Given the description of an element on the screen output the (x, y) to click on. 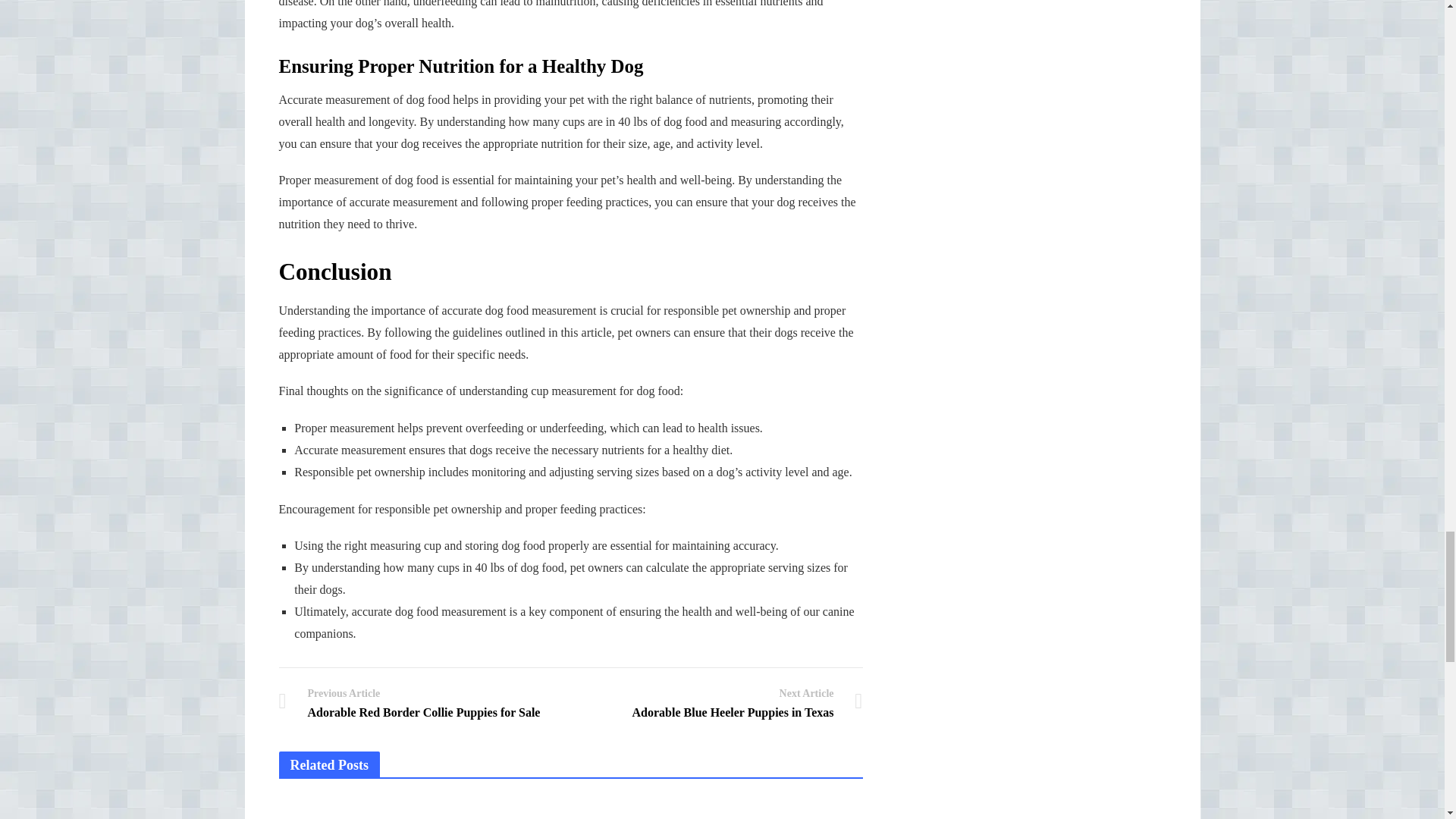
The Ultimate Kirkland Puppy Food Feeding Guide (419, 702)
Is Aldi Dog Food Good? A Comprehensive Review (570, 808)
